Given the description of an element on the screen output the (x, y) to click on. 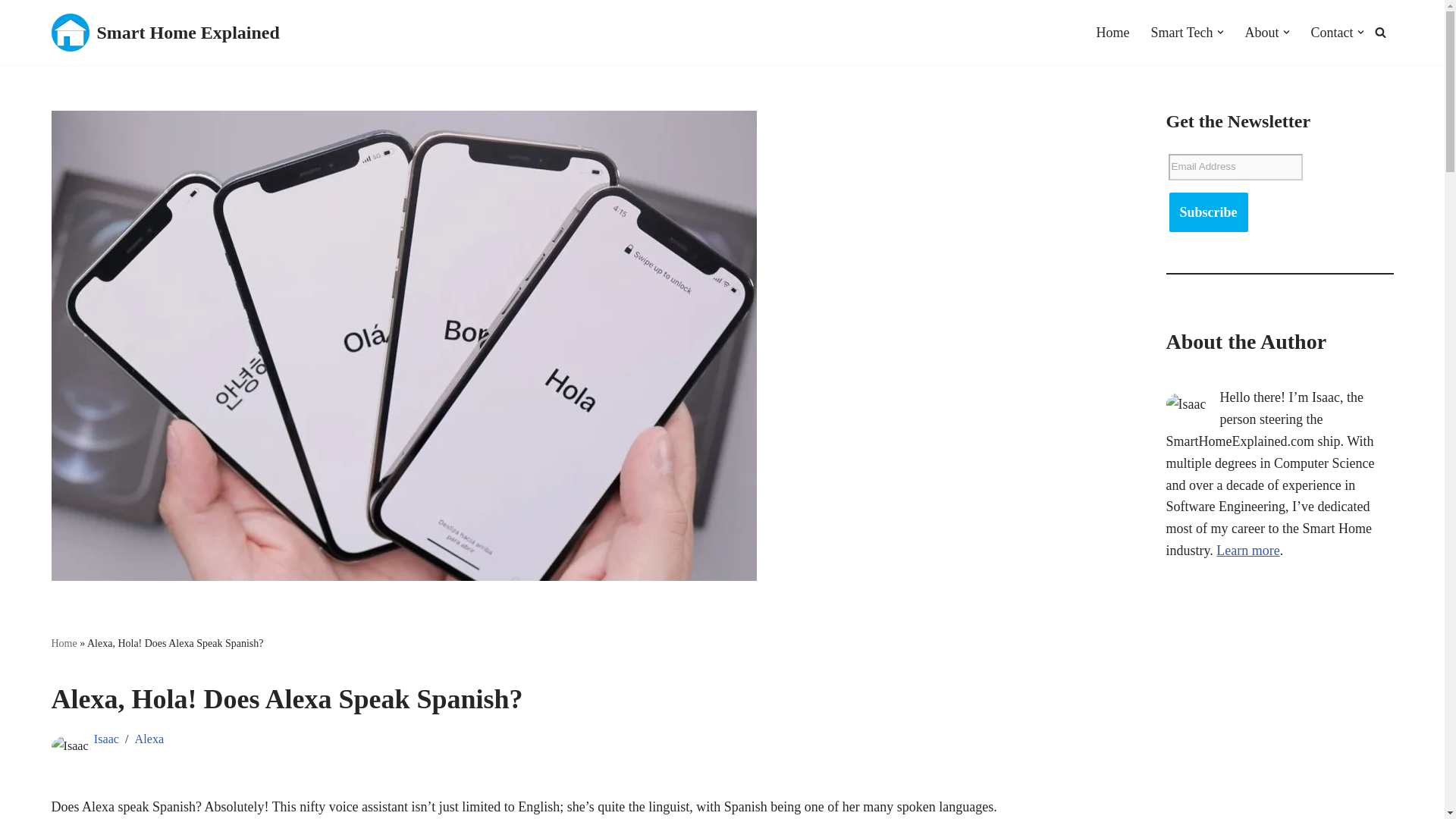
Posts by Isaac (106, 739)
Home (1112, 32)
Subscribe (1207, 212)
Skip to content (11, 31)
Smart Home Explained (164, 32)
About (1261, 32)
Smart Tech (1181, 32)
Contact (1331, 32)
